Given the description of an element on the screen output the (x, y) to click on. 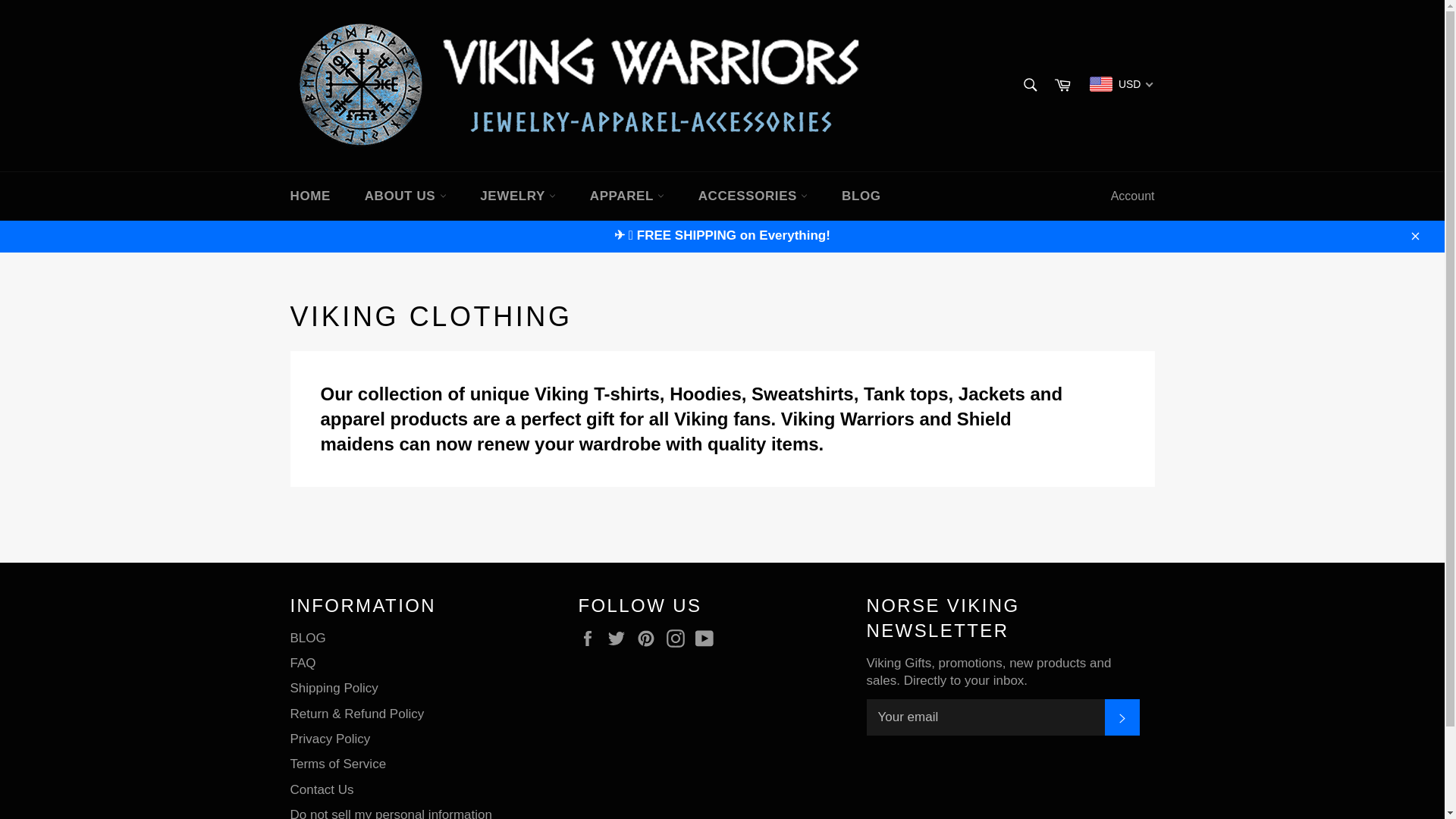
Viking Warriors on YouTube (707, 638)
Viking Warriors on Pinterest (649, 638)
Viking Warriors on Facebook (591, 638)
Viking Warriors on Twitter (620, 638)
Viking Warriors on Instagram (679, 638)
